Given the description of an element on the screen output the (x, y) to click on. 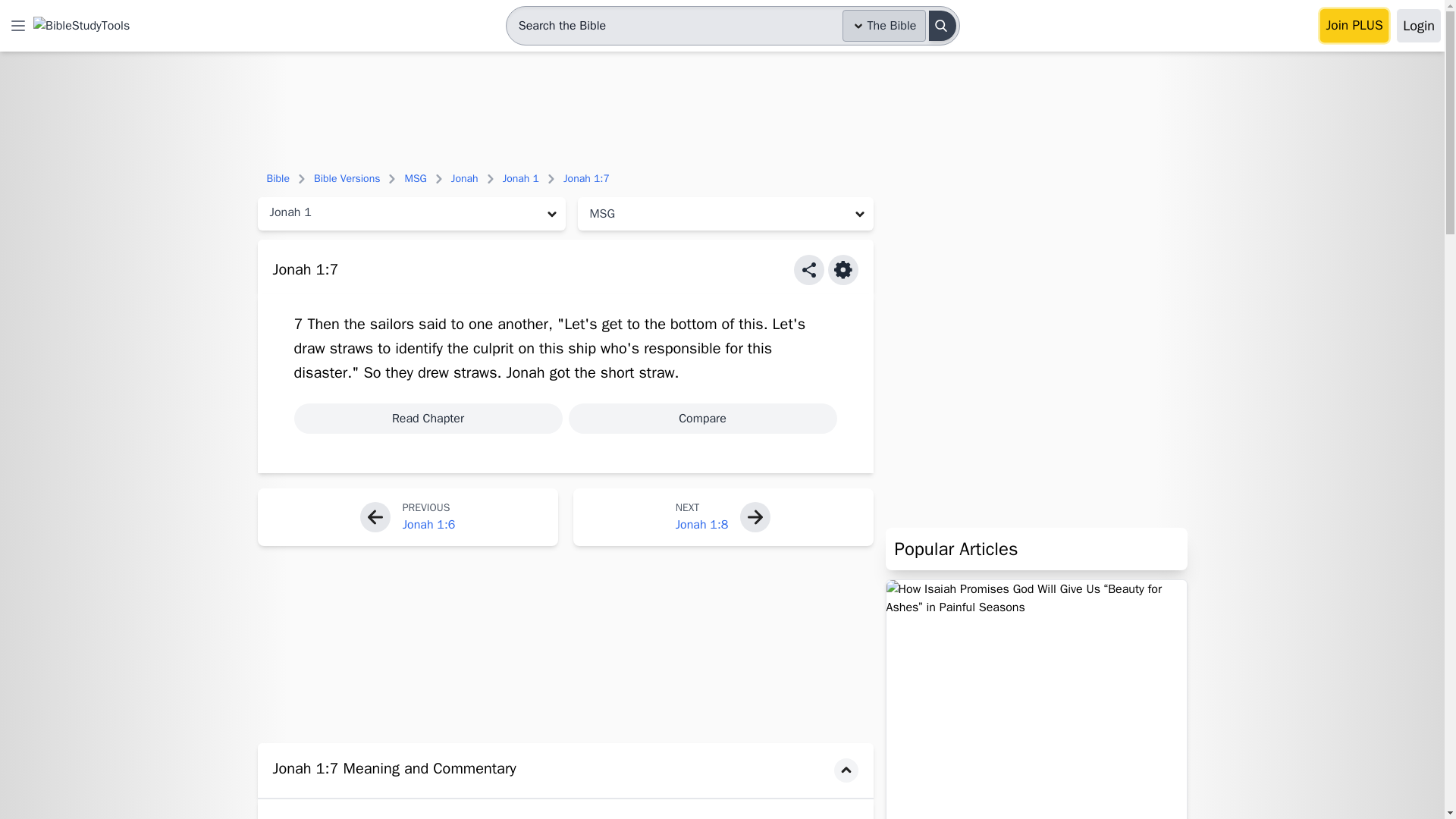
Join PLUS (1354, 25)
Scripture Settings (843, 269)
Login (1418, 25)
The Bible (884, 25)
